Given the description of an element on the screen output the (x, y) to click on. 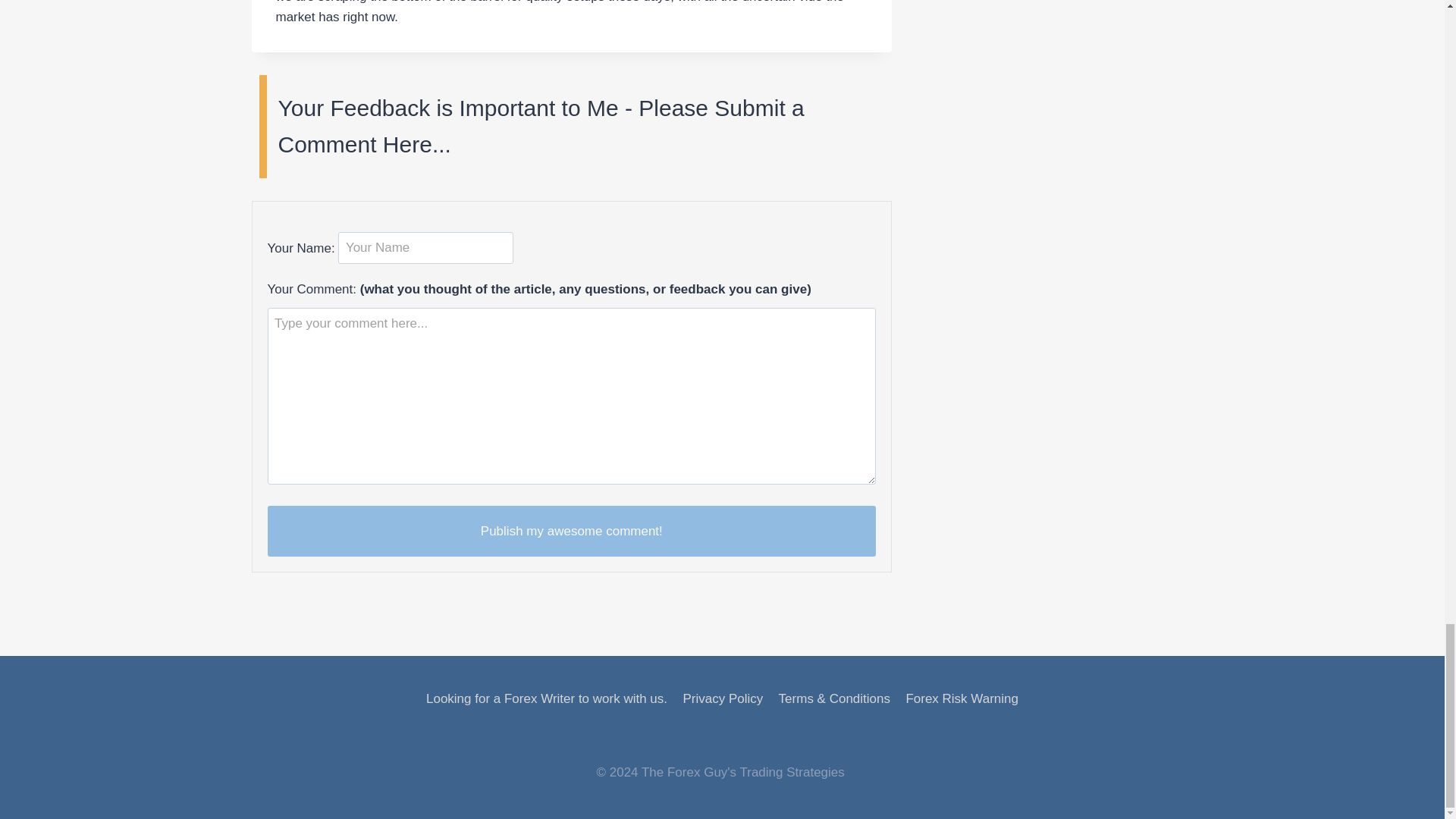
Privacy Policy (722, 698)
Publish my awesome comment! (571, 531)
Looking for a Forex Writer to work with us. (547, 698)
Forex Risk Warning (962, 698)
Publish my awesome comment! (571, 531)
